Given the description of an element on the screen output the (x, y) to click on. 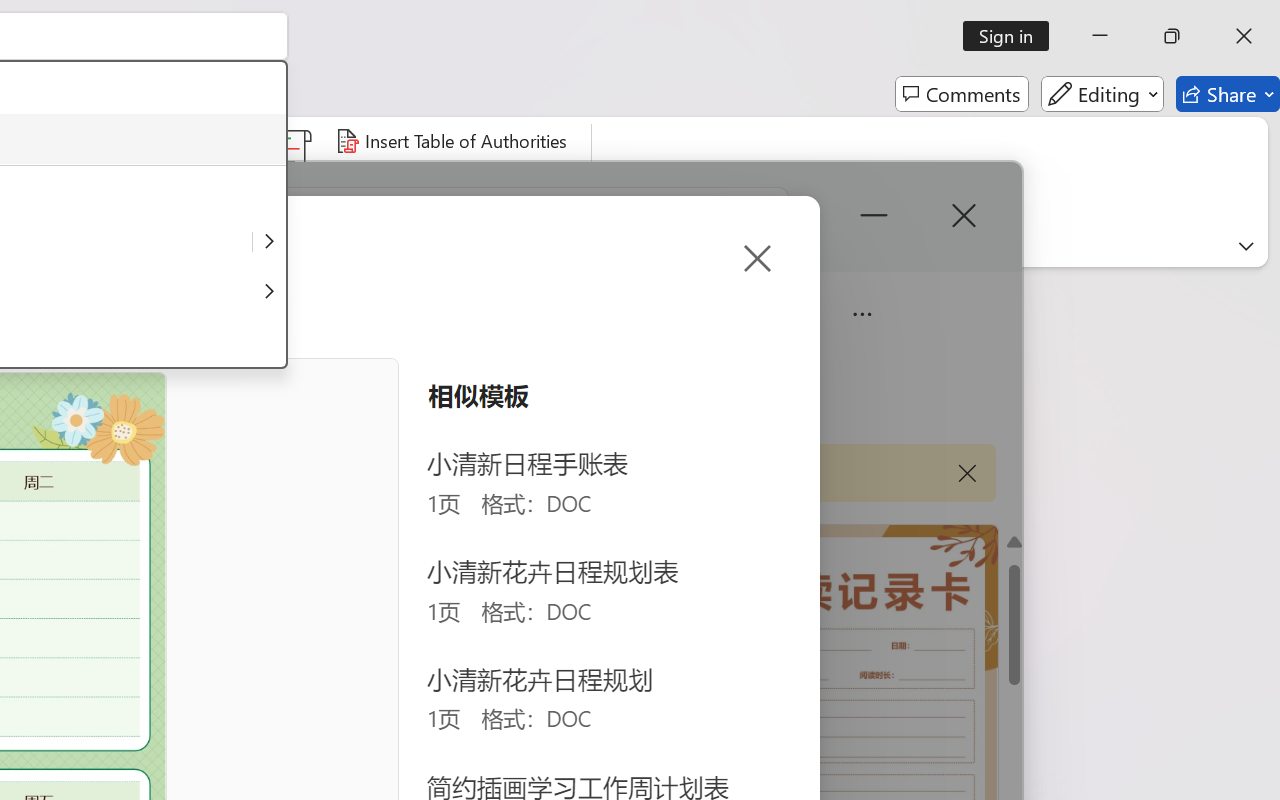
Insert Index... (149, 141)
Mark Citation... (292, 179)
Editing (1101, 94)
Mark Entry... (44, 179)
Insert Table of Authorities... (453, 141)
Update Index (156, 179)
Update Table (404, 179)
Sign in (1012, 35)
Save As Other Format (269, 241)
